Given the description of an element on the screen output the (x, y) to click on. 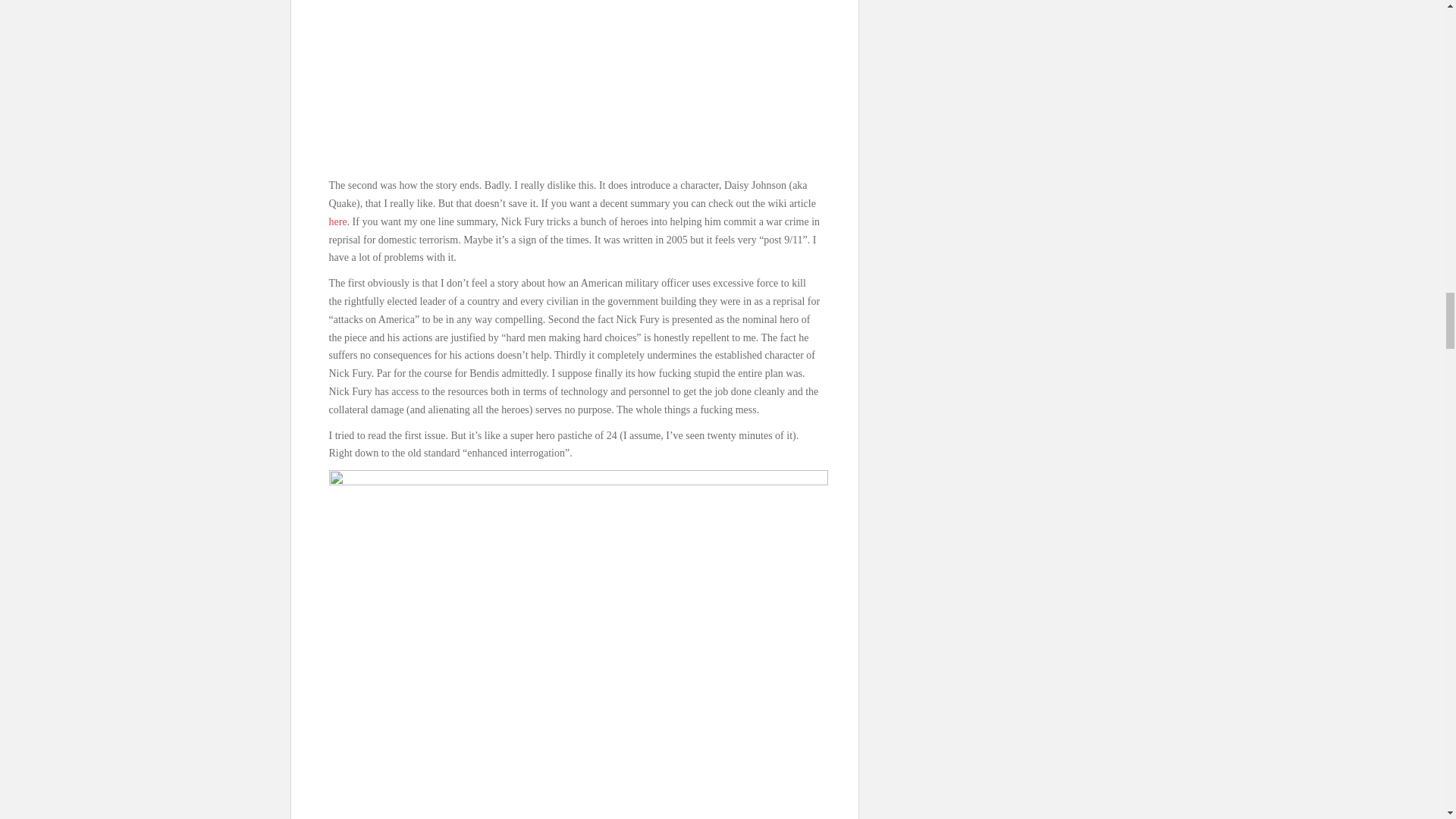
here (338, 221)
